Given the description of an element on the screen output the (x, y) to click on. 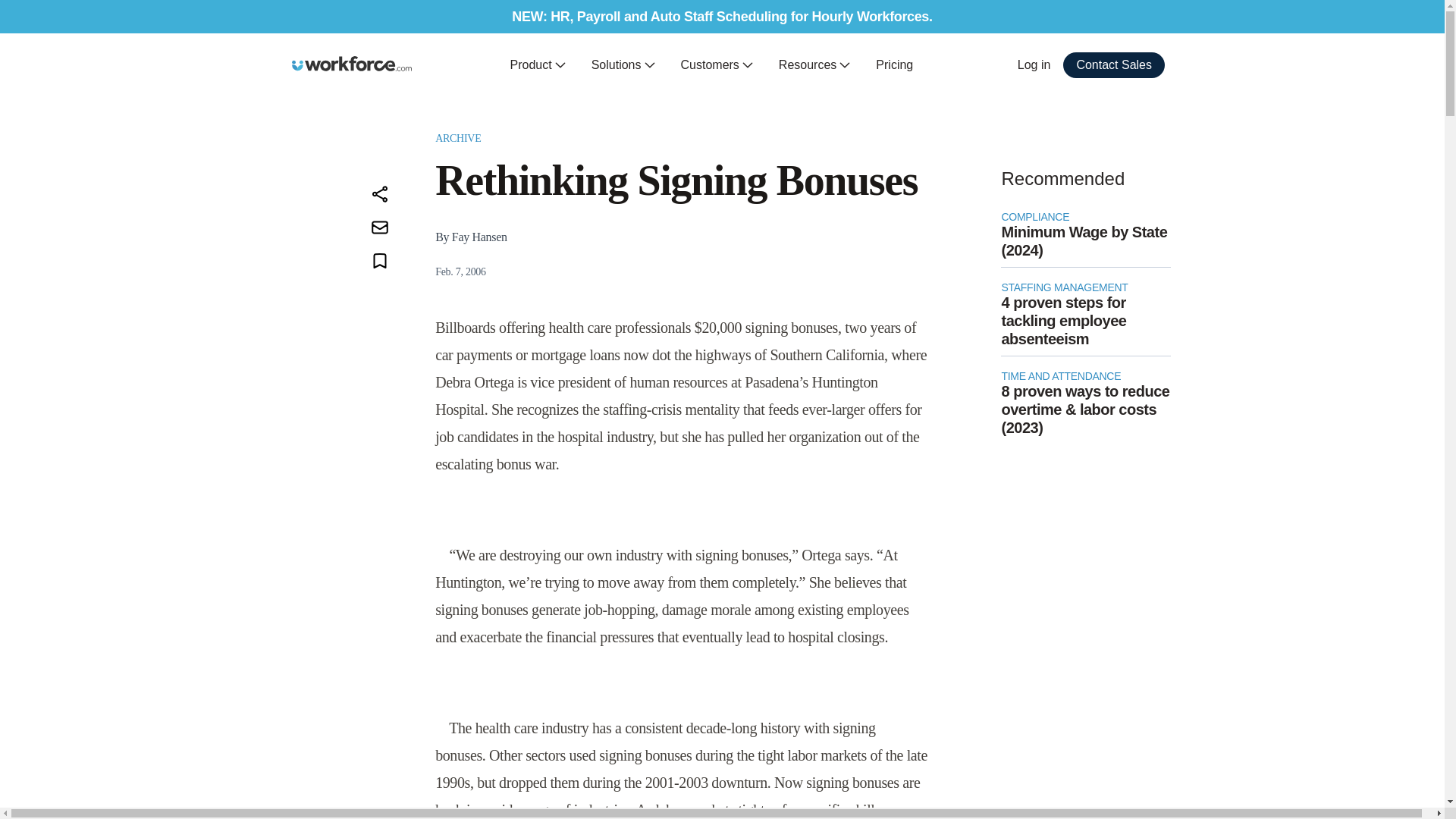
Product (539, 65)
Workforce.com (351, 63)
Solutions (623, 65)
